Given the description of an element on the screen output the (x, y) to click on. 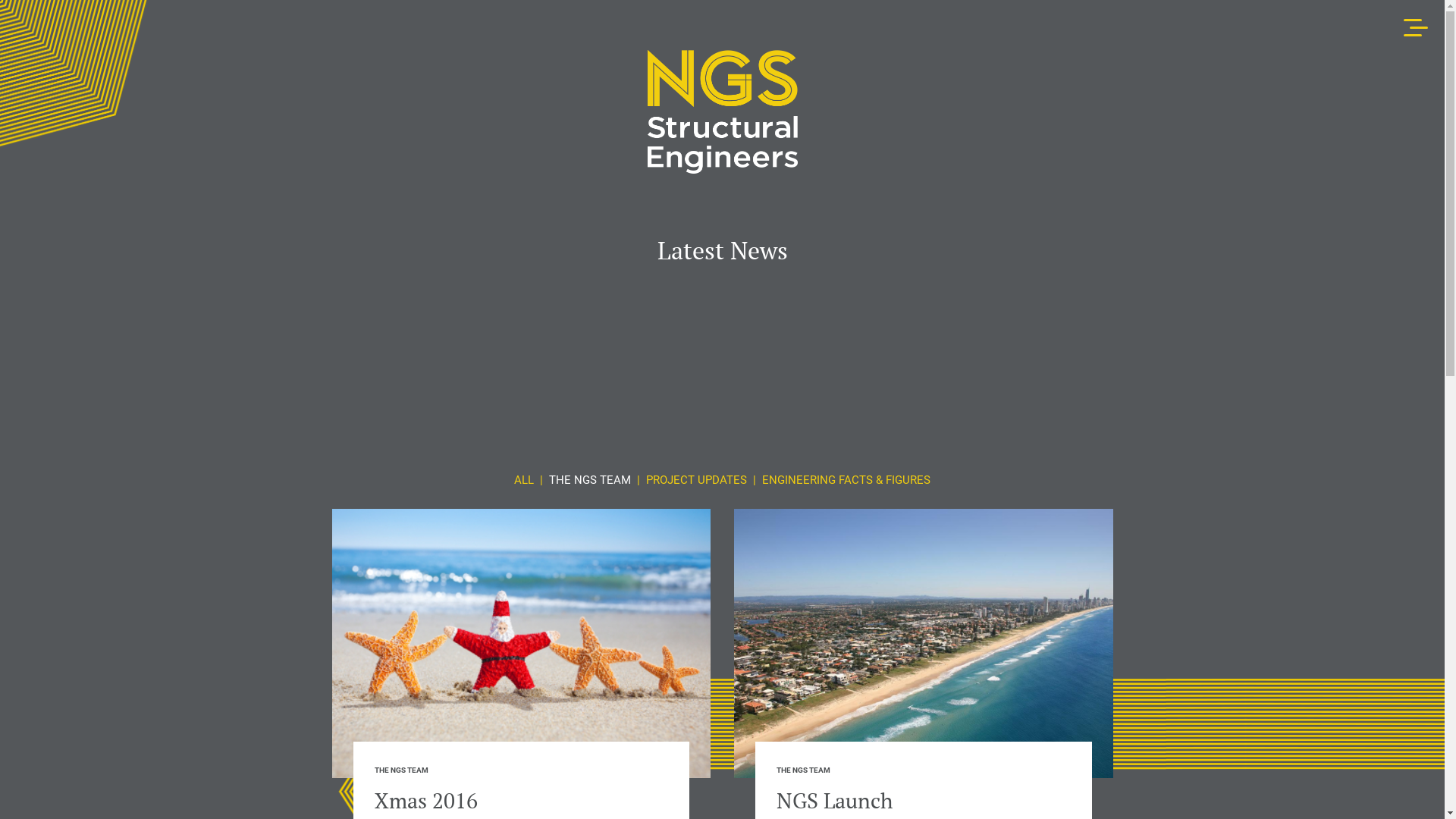
ALL Element type: text (523, 479)
THE NGS TEAM Element type: text (803, 769)
THE NGS TEAM Element type: text (401, 769)
NGS Launch Element type: text (834, 800)
THE NGS TEAM Element type: text (589, 479)
PROJECT UPDATES Element type: text (696, 479)
Xmas 2016 Element type: text (425, 800)
ENGINEERING FACTS & FIGURES Element type: text (846, 479)
